Given the description of an element on the screen output the (x, y) to click on. 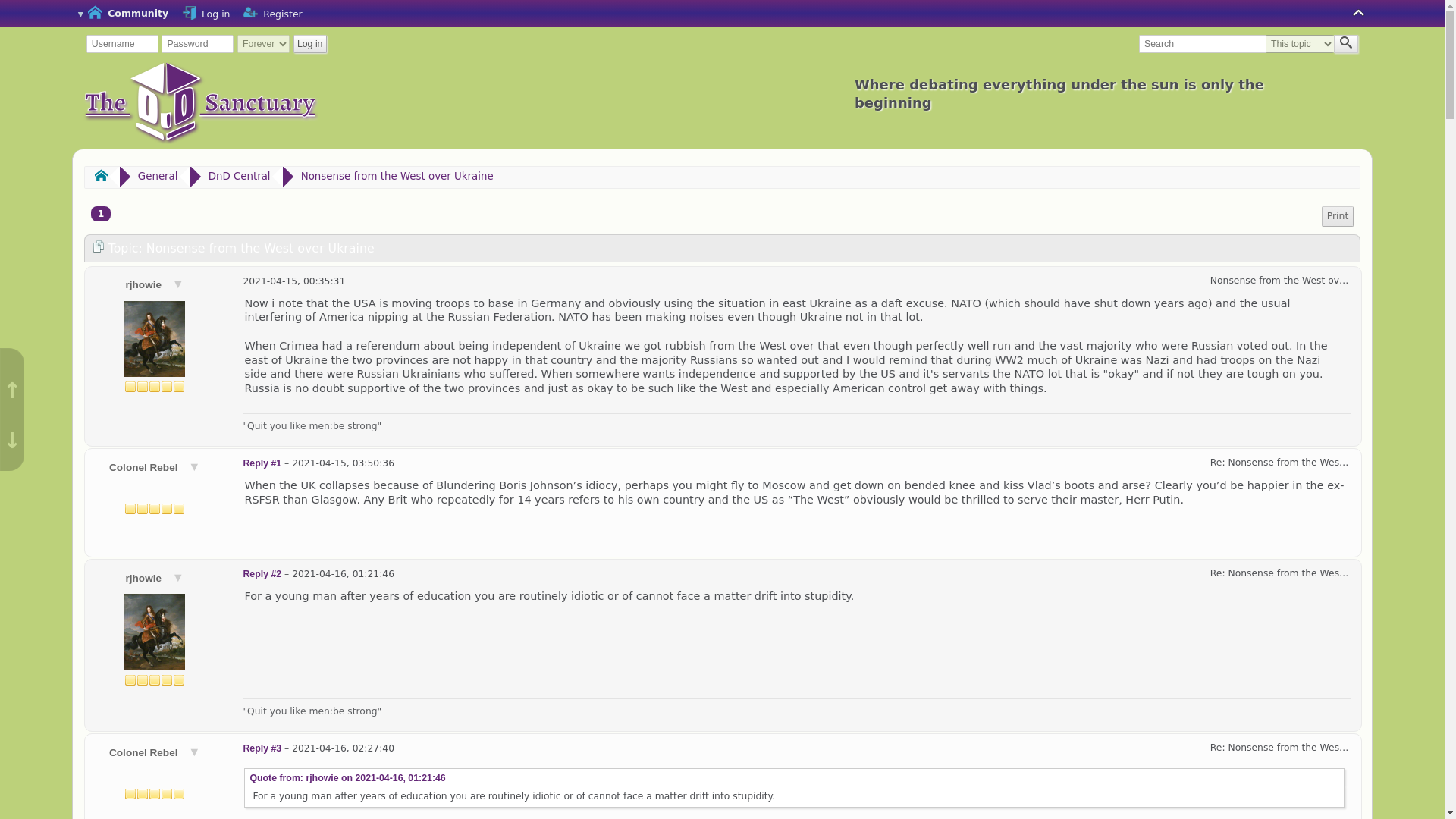
Community (123, 13)
Colonel Rebel (154, 467)
The DnD Sanctuary (199, 103)
Last post (294, 281)
rjhowie (154, 284)
Log in (204, 14)
Nonsense from the West over Ukraine (397, 175)
Quote from: rjhowie on 2021-04-16, 01:21:46 (346, 777)
Register (270, 14)
rjhowie (154, 578)
